Given the description of an element on the screen output the (x, y) to click on. 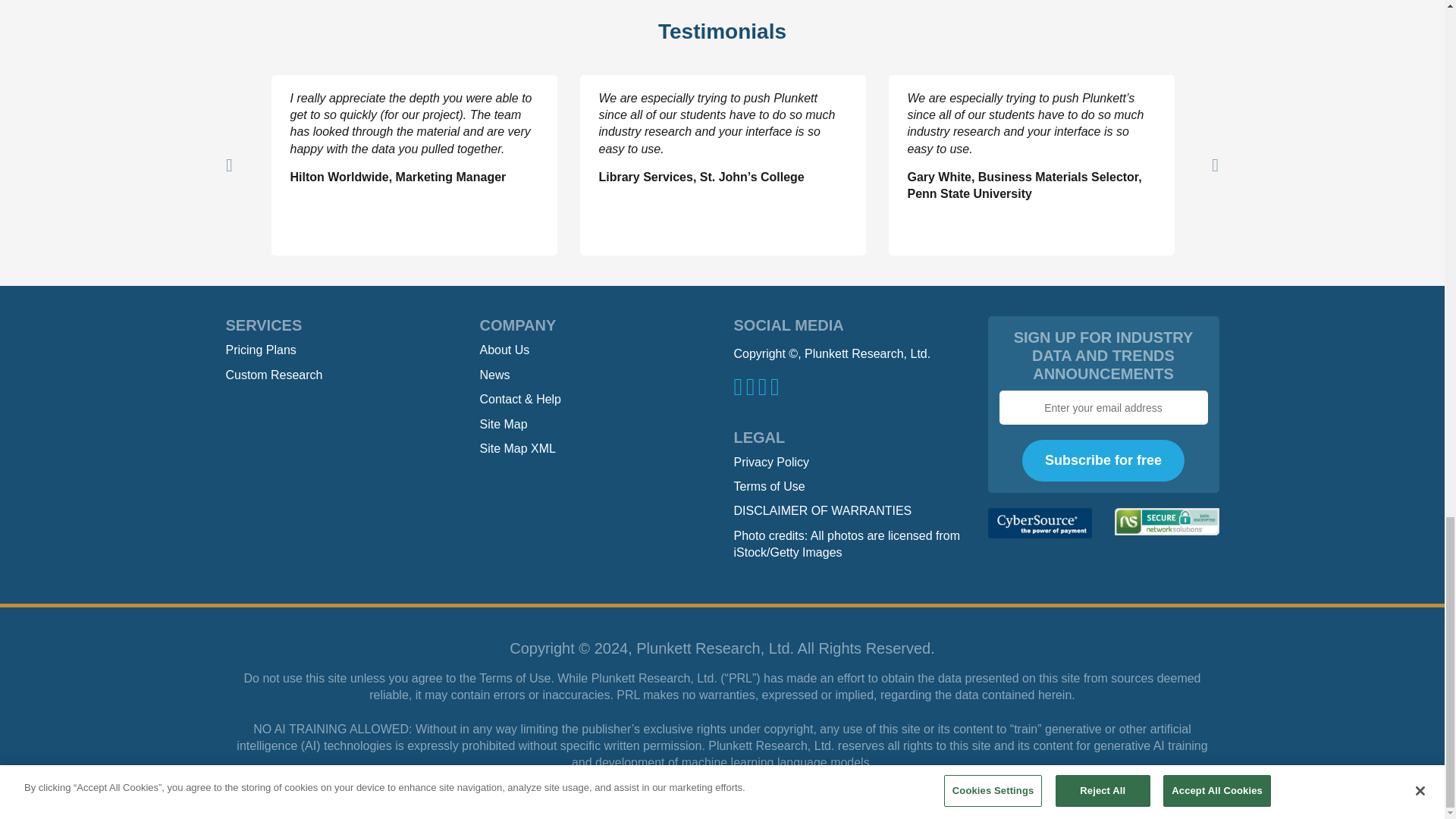
Real Time Web Analytics (30, 809)
Pricing Plans (261, 349)
Enter your email address (1103, 407)
About Us (504, 349)
Next Slide (1214, 164)
Custom Research (274, 374)
Previous Slide (229, 164)
